Given the description of an element on the screen output the (x, y) to click on. 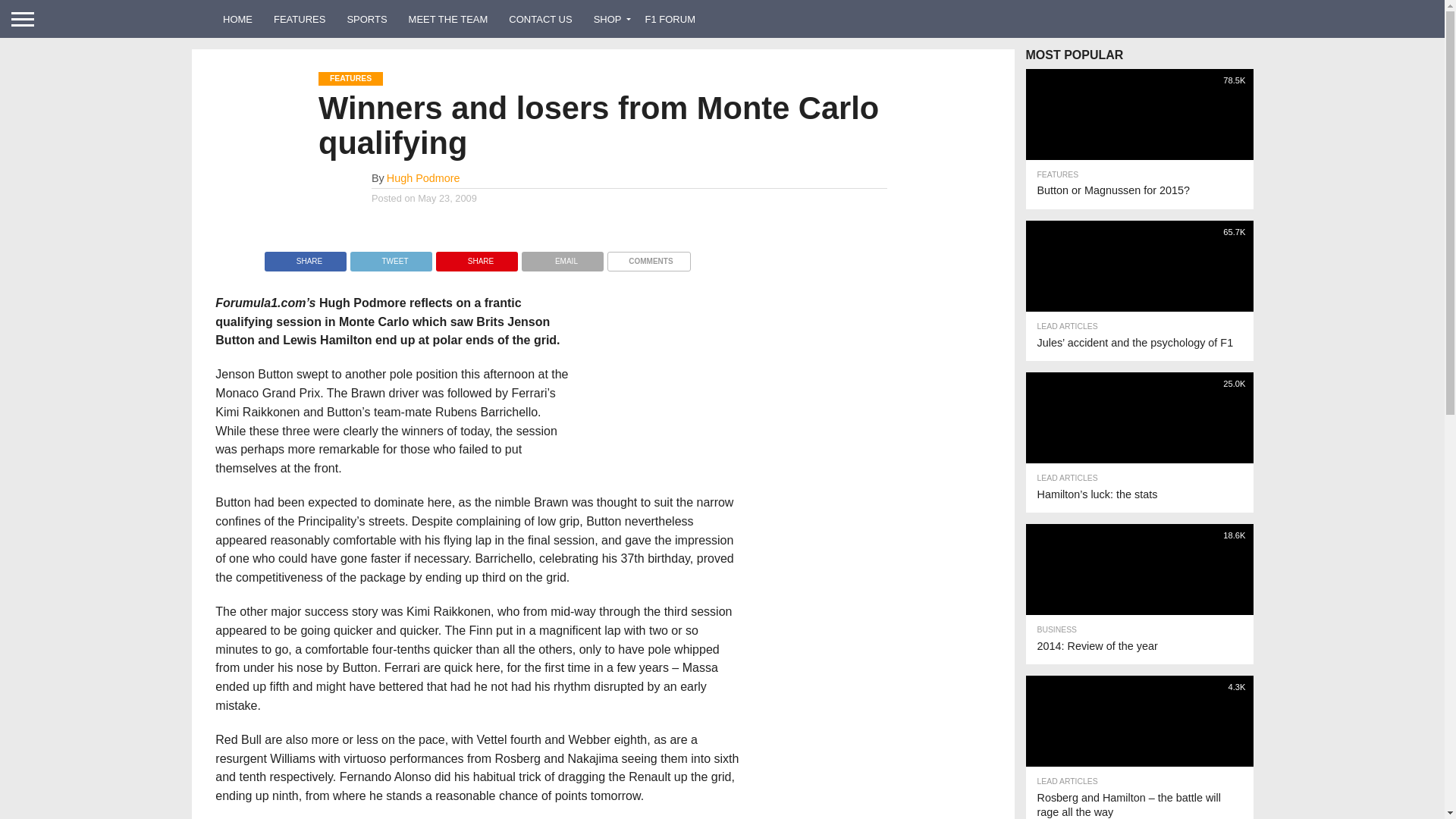
Tweet This Post (390, 256)
Posts by Hugh Podmore (423, 177)
F1 FORUM (670, 18)
Pin This Post (476, 256)
HOME (237, 18)
CONTACT US (539, 18)
SHOP (608, 18)
SPORTS (366, 18)
MEET THE TEAM (448, 18)
FEATURES (299, 18)
